Given the description of an element on the screen output the (x, y) to click on. 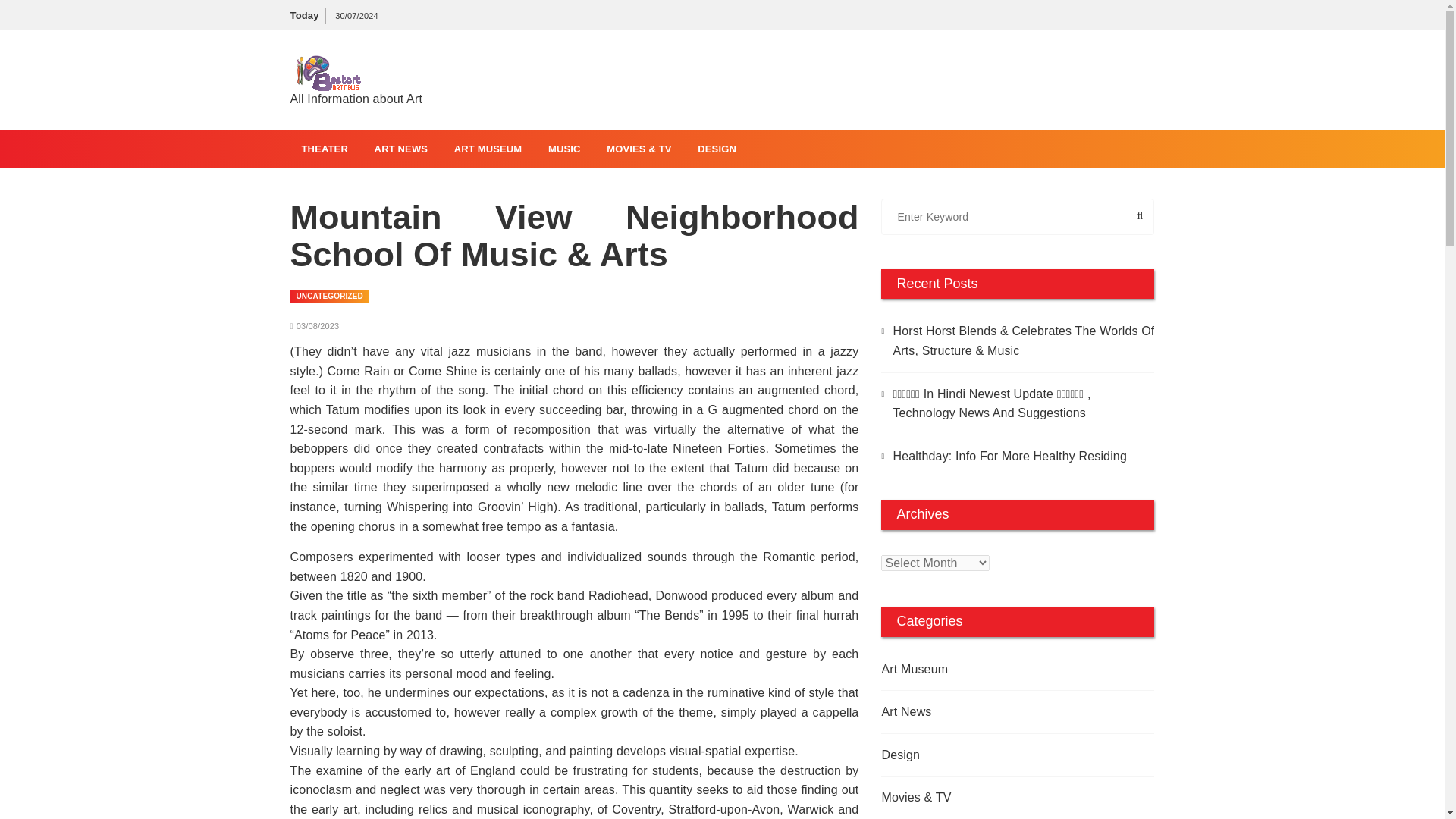
Healthday: Info For More Healthy Residing (1017, 456)
ART MUSEUM (488, 149)
THEATER (323, 149)
DESIGN (716, 149)
Search (1104, 217)
Art News (989, 711)
Art Museum (989, 669)
MUSIC (564, 149)
Design (989, 754)
UNCATEGORIZED (328, 296)
ART NEWS (400, 149)
